Given the description of an element on the screen output the (x, y) to click on. 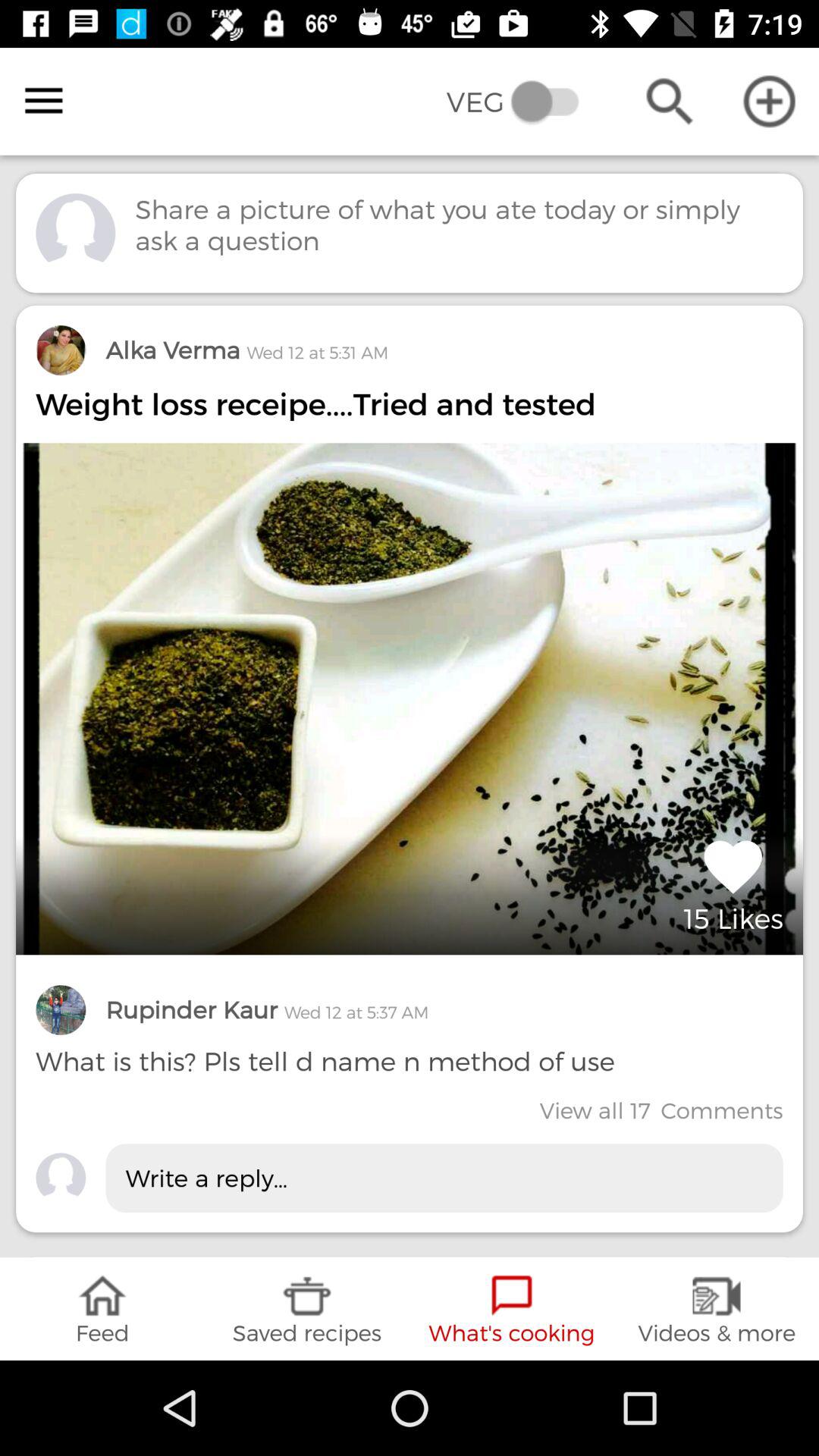
turn off icon below write a reply... (306, 1308)
